Given the description of an element on the screen output the (x, y) to click on. 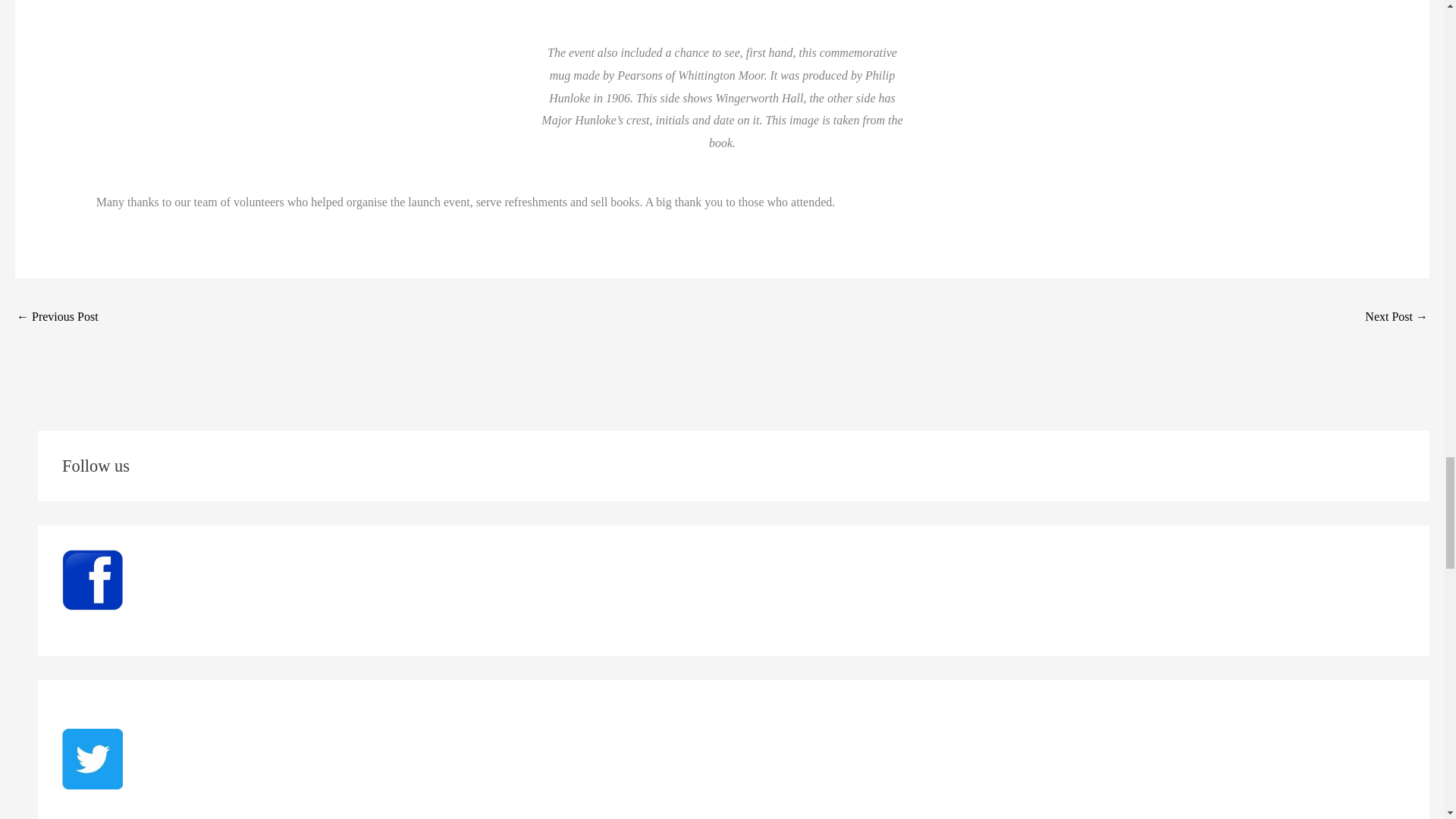
Coalite, Bolsover (1396, 317)
Wingerworth book - details about our new publication (57, 317)
